Given the description of an element on the screen output the (x, y) to click on. 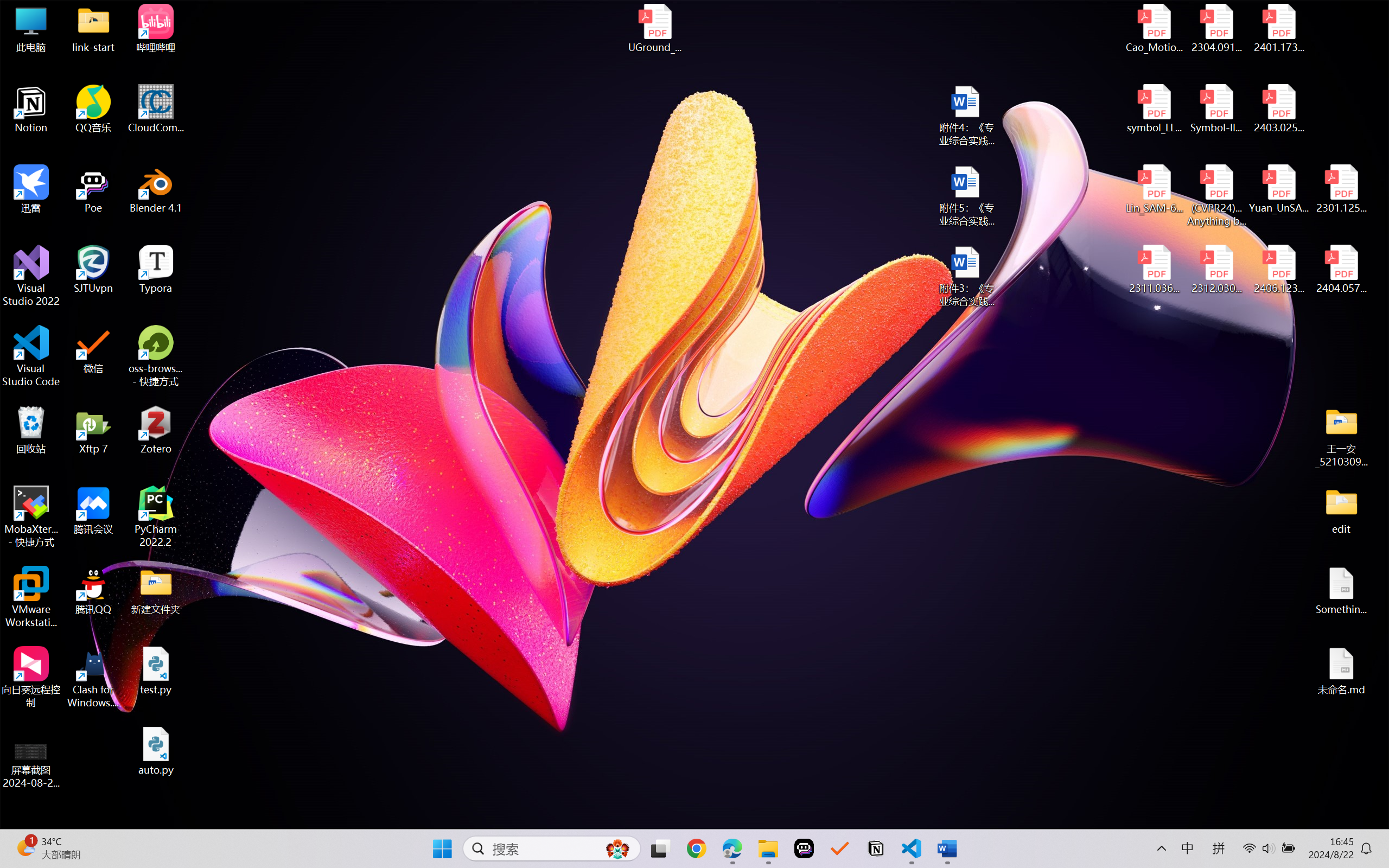
2304.09121v3.pdf (1216, 28)
UGround_paper.pdf (654, 28)
2406.12373v2.pdf (1278, 269)
2301.12597v3.pdf (1340, 189)
test.py (156, 670)
